Given the description of an element on the screen output the (x, y) to click on. 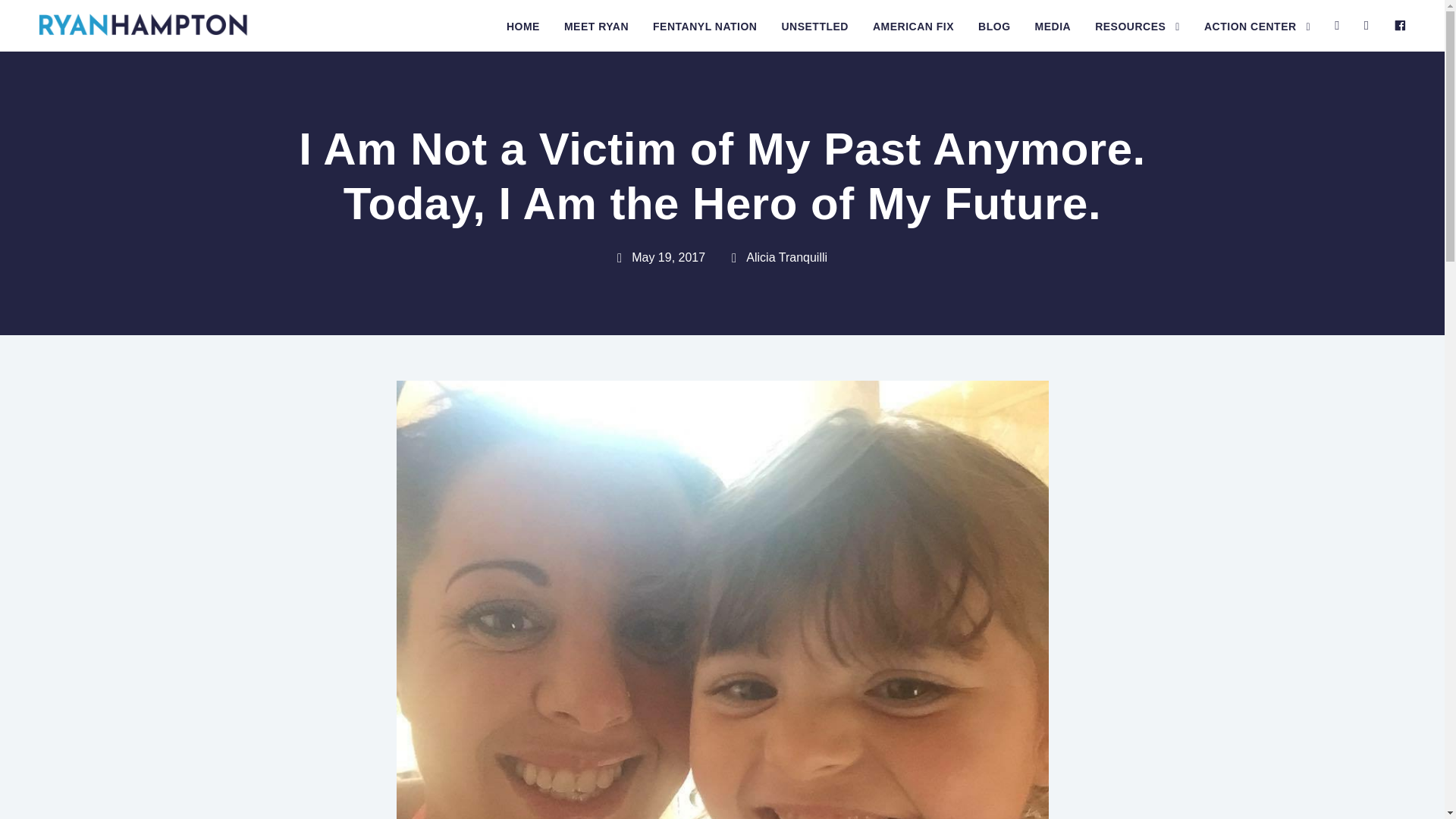
RESOURCES (1136, 34)
HOME (523, 34)
BLOG (994, 34)
AMERICAN FIX (912, 34)
MEDIA (1053, 34)
LOGO-v2 (143, 24)
Posts by Alicia Tranquilli (786, 256)
MEET RYAN (596, 34)
ACTION CENTER (1257, 34)
FENTANYL NATION (704, 34)
